Given the description of an element on the screen output the (x, y) to click on. 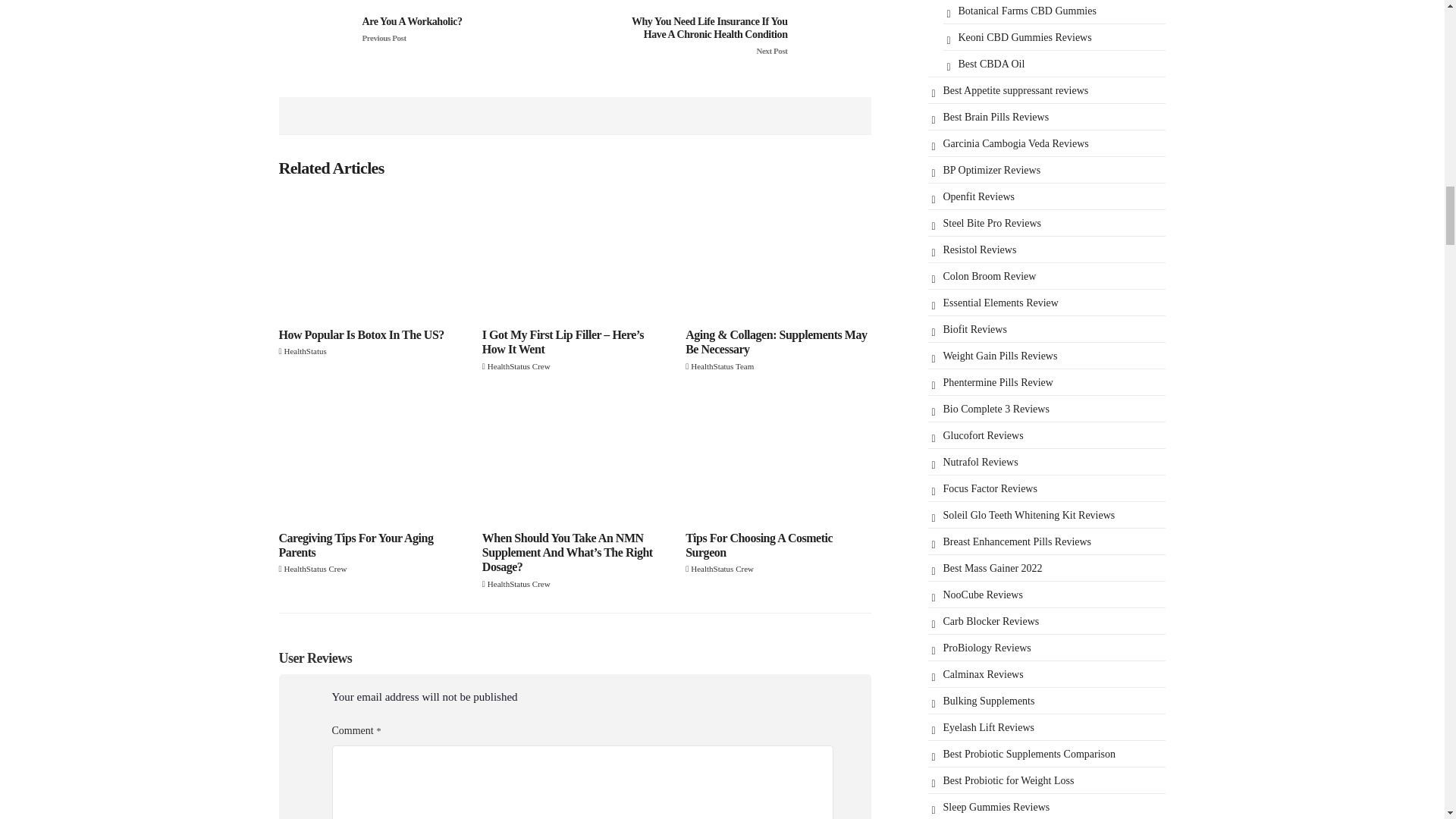
How Popular Is Botox In The US? (371, 254)
Caregiving Tips For Your Aging Parents (371, 457)
Tips For Choosing A Cosmetic Surgeon (777, 457)
